Given the description of an element on the screen output the (x, y) to click on. 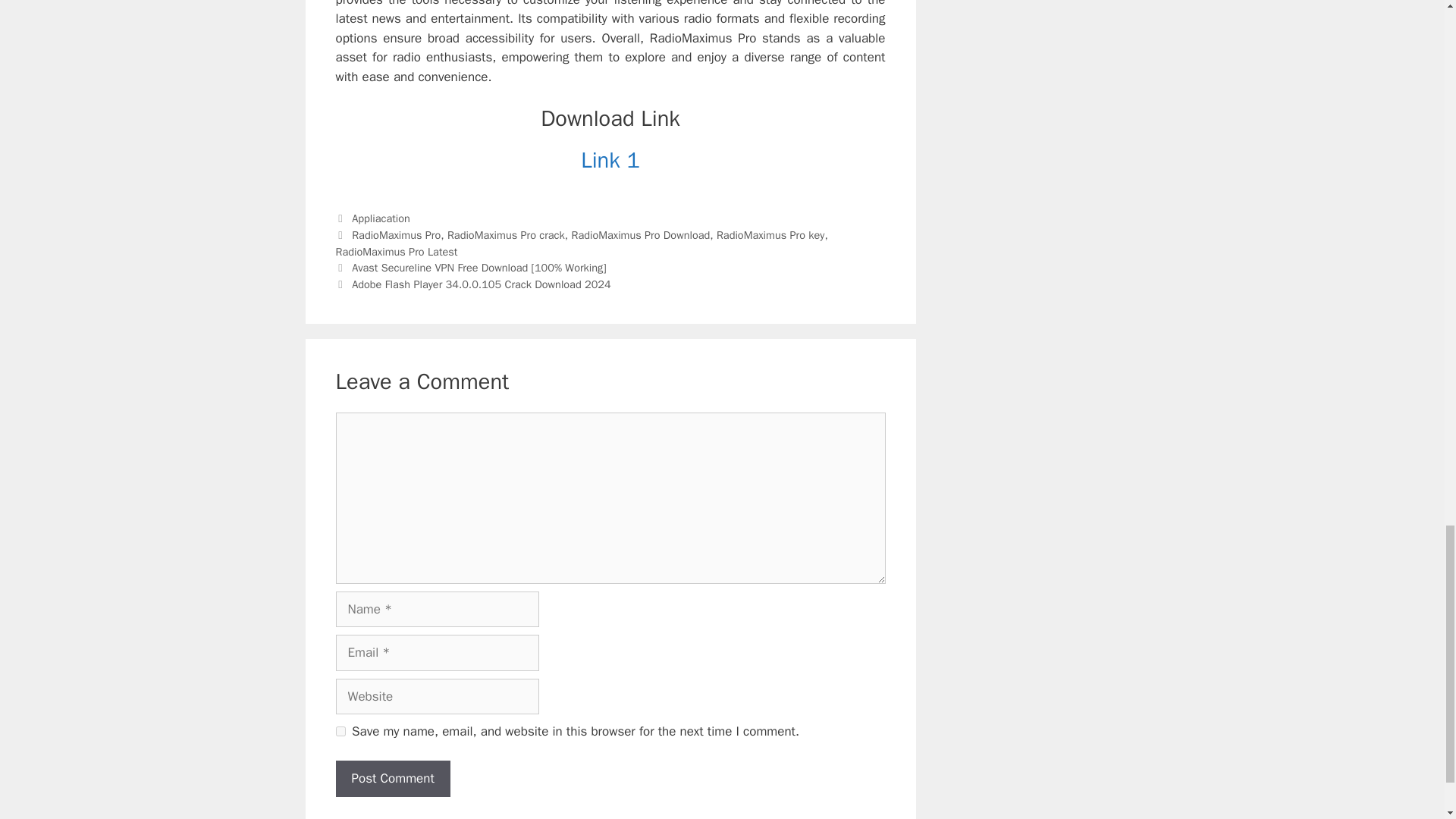
RadioMaximus Pro crack (505, 234)
yes (339, 731)
Appliacation (381, 218)
Link 1 (610, 160)
RadioMaximus Pro Latest (395, 251)
Post Comment (391, 778)
RadioMaximus Pro (396, 234)
Adobe Flash Player 34.0.0.105 Crack Download 2024 (481, 284)
RadioMaximus Pro Download (640, 234)
RadioMaximus Pro key (770, 234)
